Given the description of an element on the screen output the (x, y) to click on. 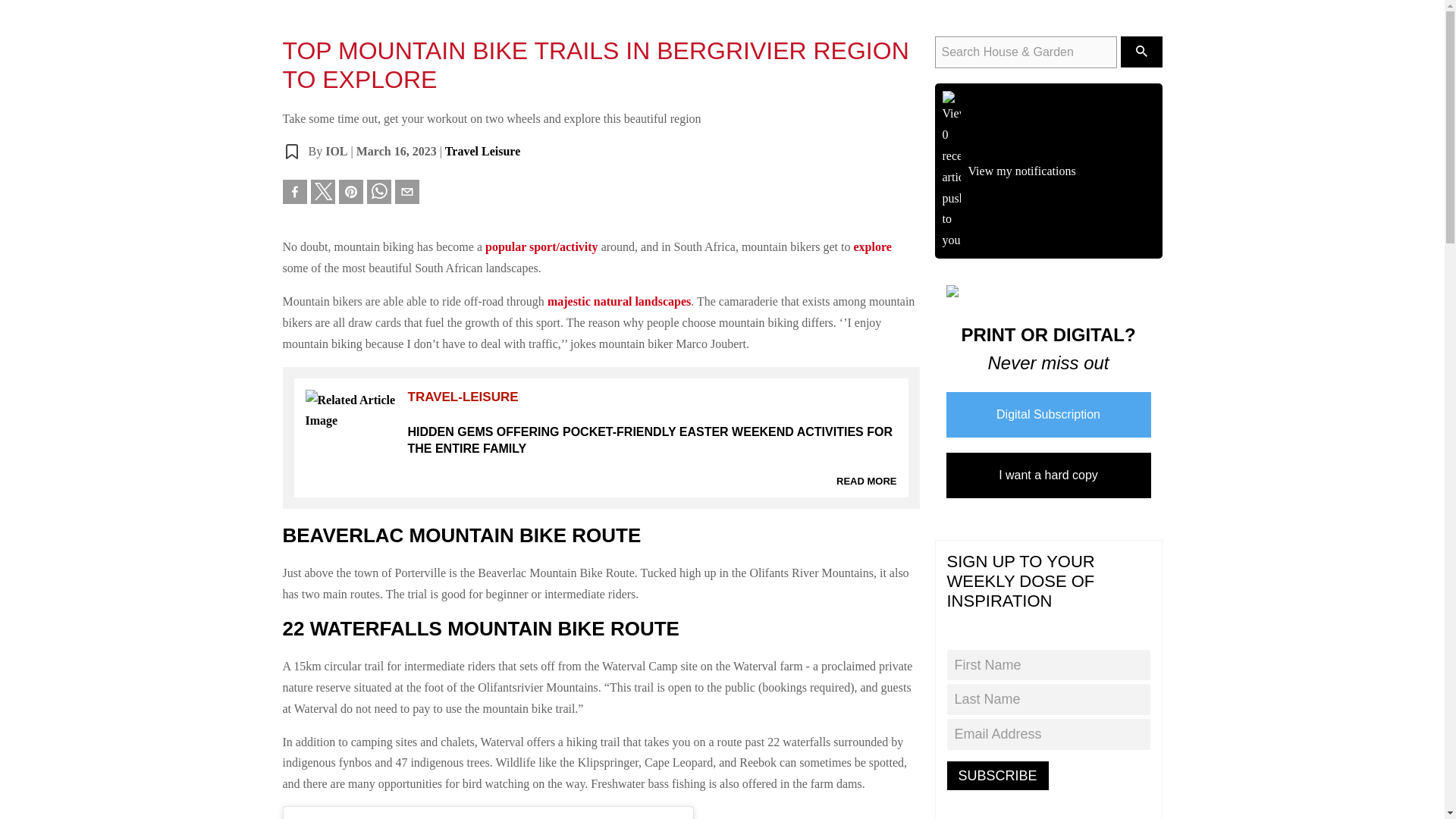
I want a hard copy (1048, 474)
Share on Twitter (322, 191)
SUBSCRIBE (997, 775)
Digital Subscription (1048, 413)
View my notifications (1047, 170)
majestic natural landscapes (618, 300)
explore (872, 246)
Travel Leisure (482, 151)
